Given the description of an element on the screen output the (x, y) to click on. 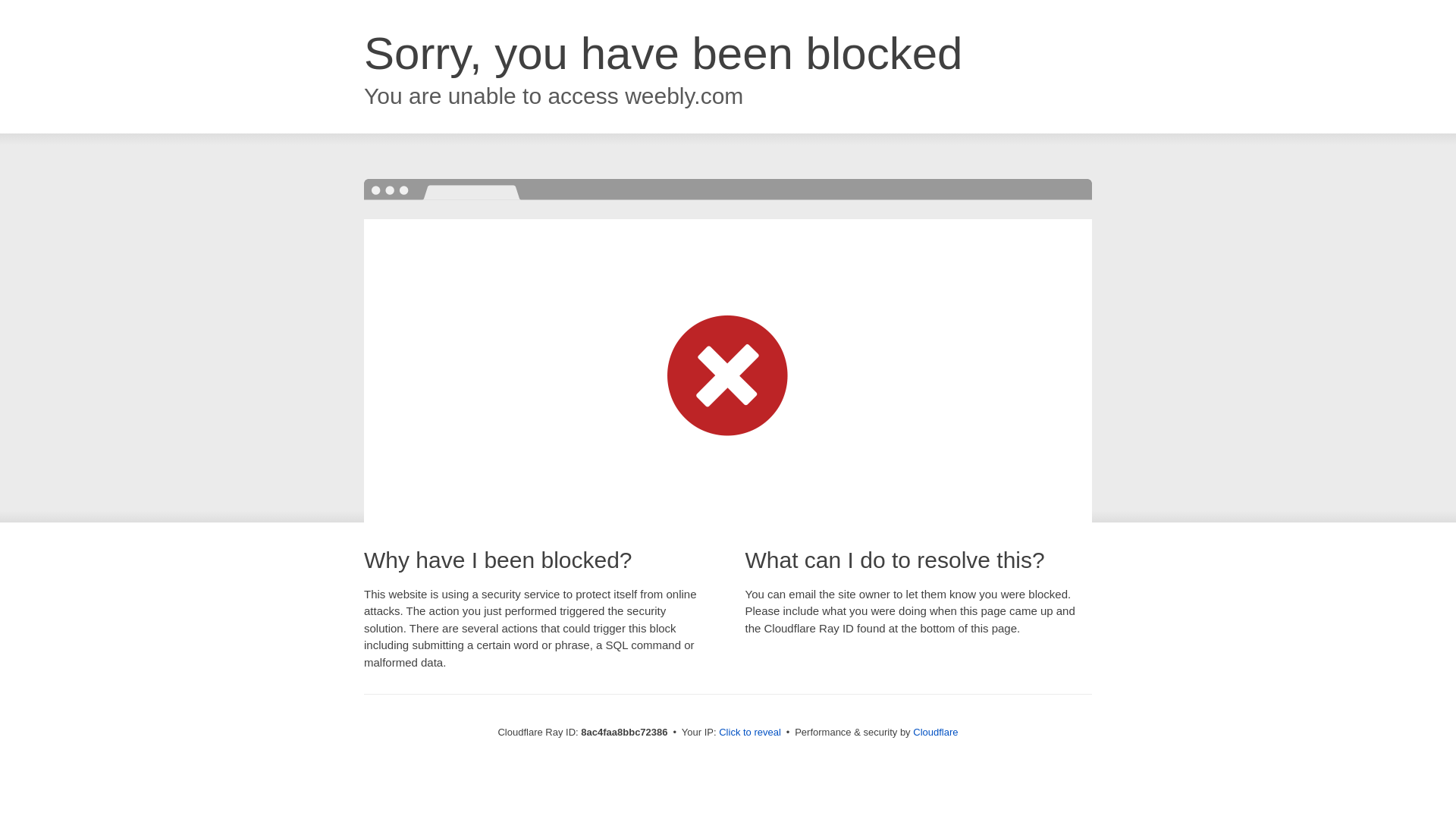
Cloudflare (936, 731)
Click to reveal (751, 732)
